Given the description of an element on the screen output the (x, y) to click on. 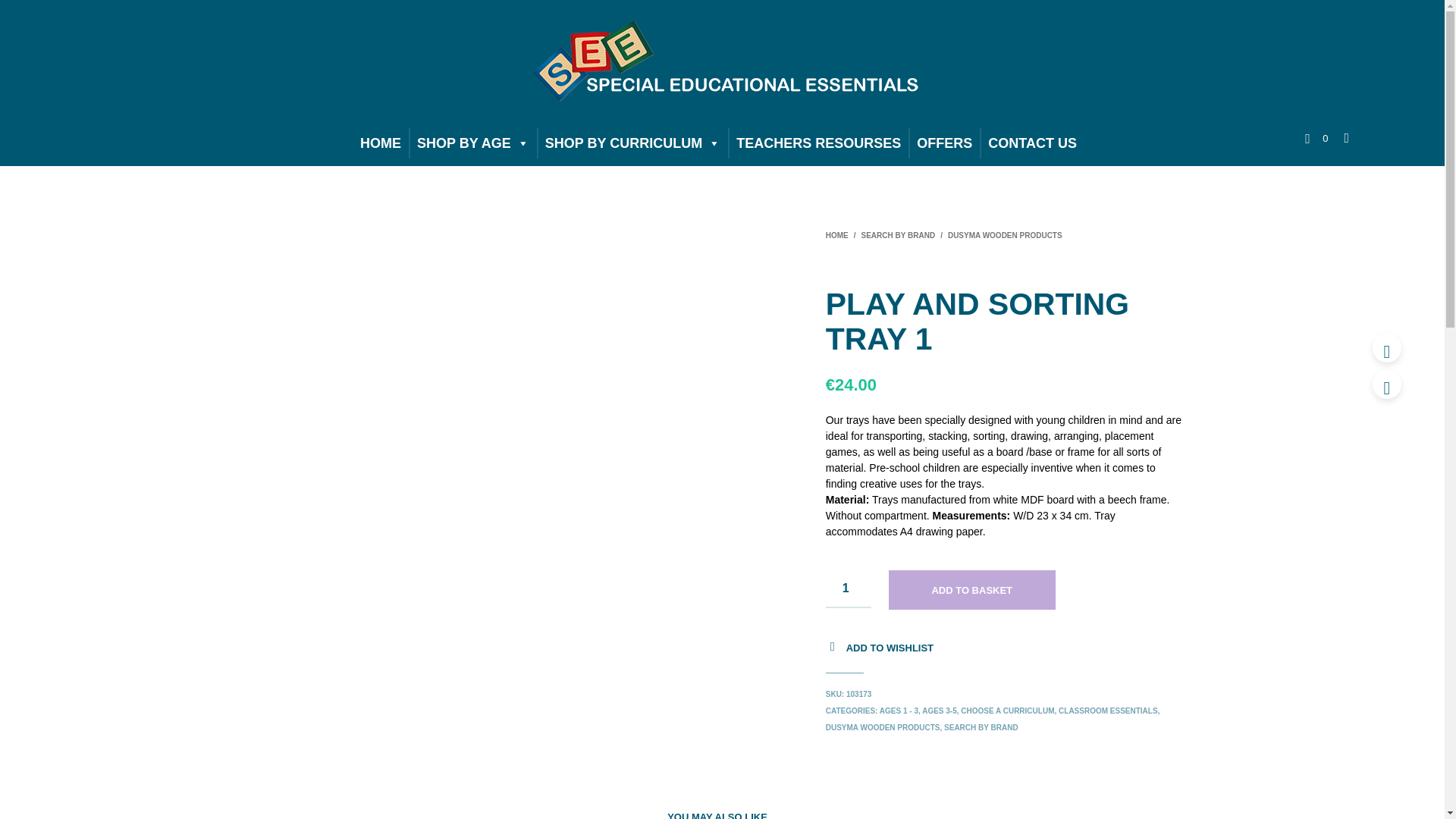
Qty (847, 589)
1 (847, 589)
SHOP BY AGE (473, 142)
HOME (380, 142)
SHOP BY CURRICULUM (632, 142)
